Given the description of an element on the screen output the (x, y) to click on. 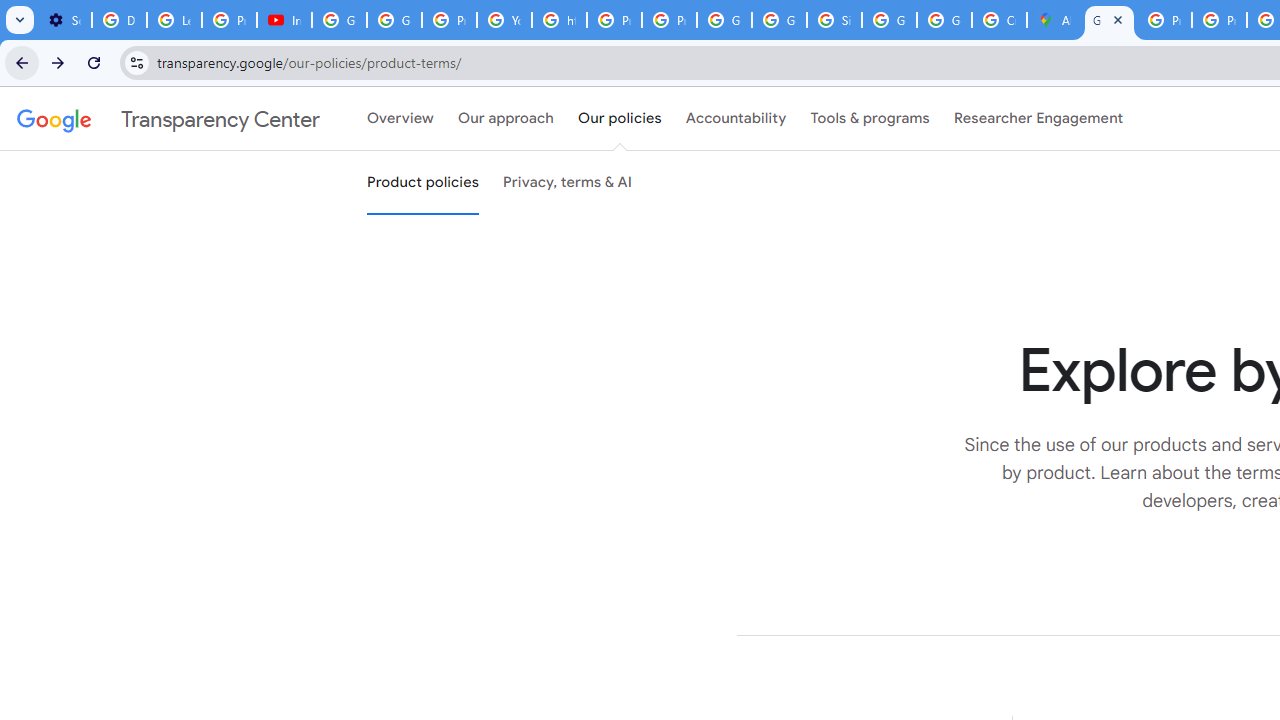
Tools & programs (869, 119)
Our approach (506, 119)
Privacy Help Center - Policies Help (1163, 20)
Our policies (619, 119)
Privacy Help Center - Policies Help (1218, 20)
Google Account Help (394, 20)
